Given the description of an element on the screen output the (x, y) to click on. 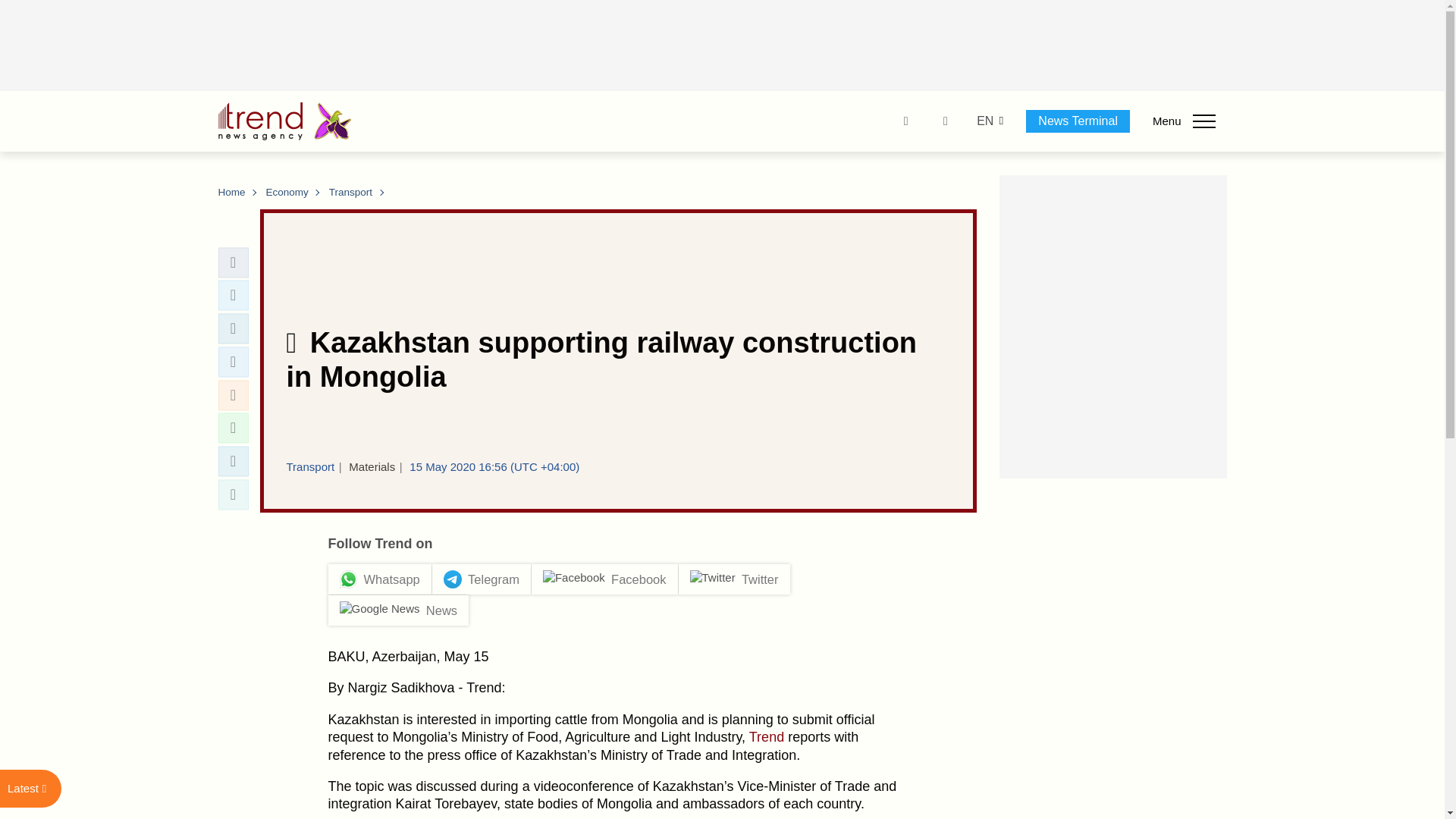
English (984, 121)
News Terminal (1077, 120)
EN (984, 121)
